Given the description of an element on the screen output the (x, y) to click on. 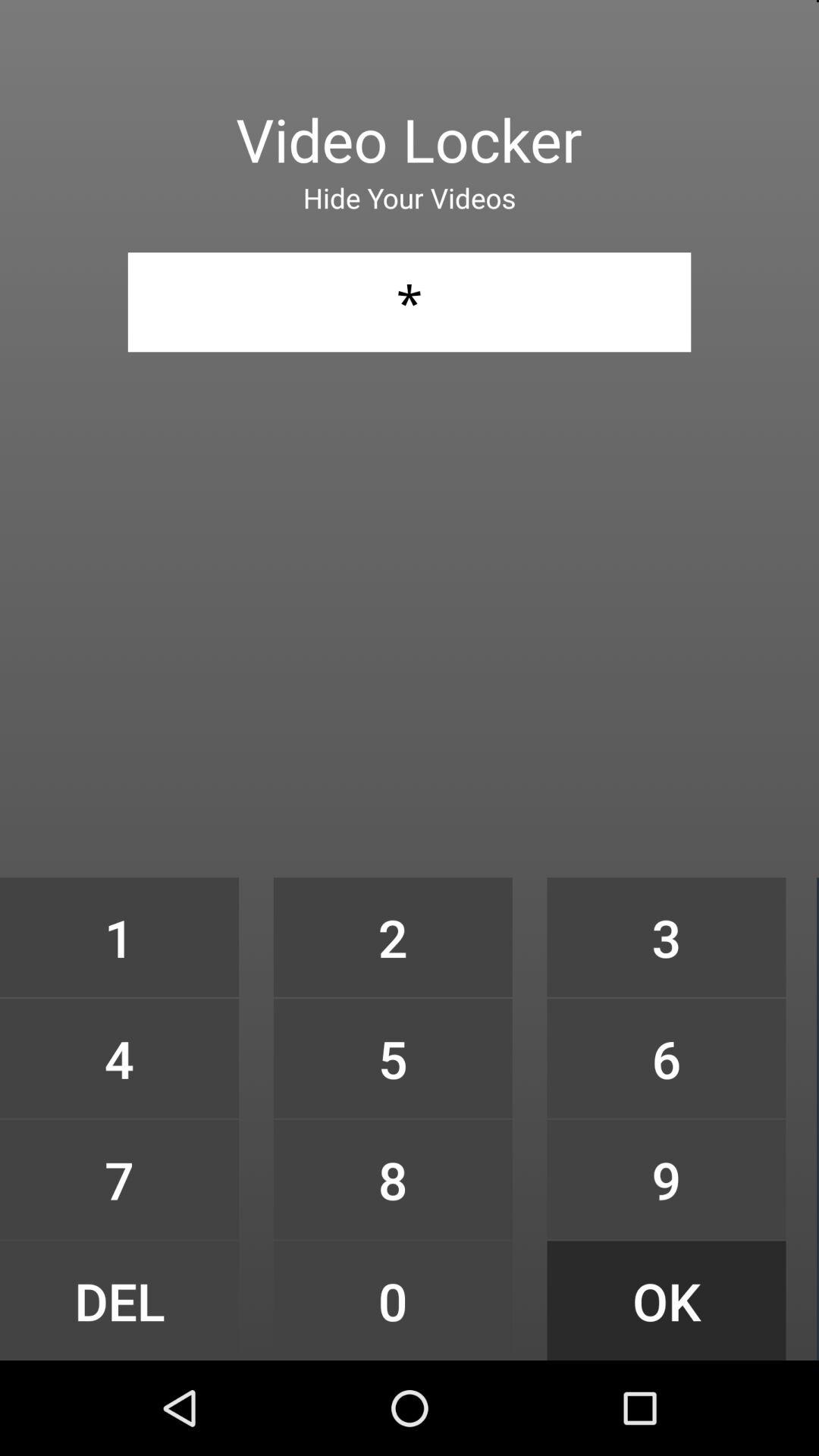
open the item below 31 icon (119, 937)
